Given the description of an element on the screen output the (x, y) to click on. 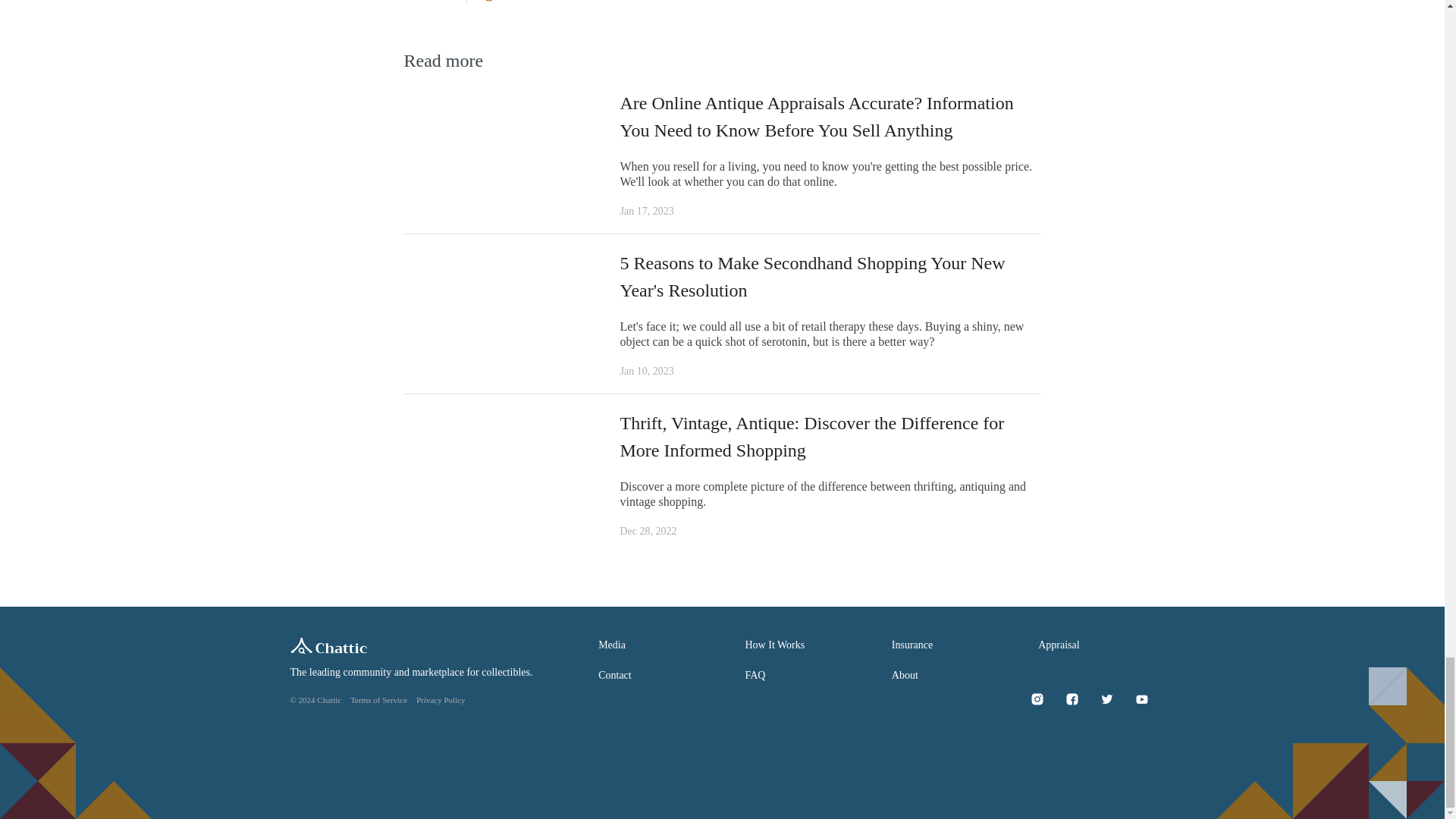
Share (507, 4)
How It Works (774, 644)
Terms of Service (378, 699)
Privacy Policy (440, 699)
Contact (614, 674)
Media (612, 644)
FAQ (754, 674)
Appraisal (1058, 644)
About (904, 674)
Insurance (912, 644)
